Given the description of an element on the screen output the (x, y) to click on. 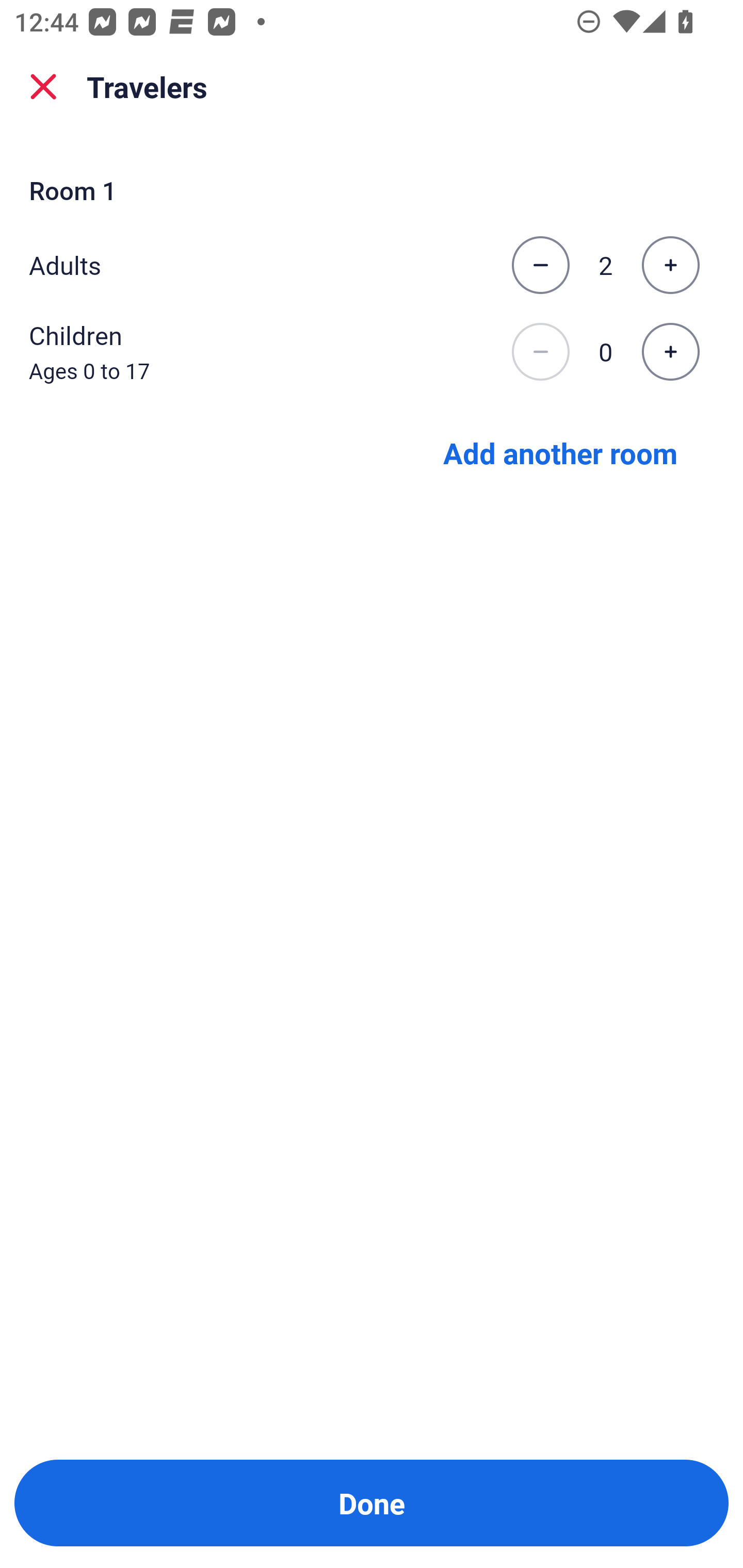
close (43, 86)
Decrease the number of adults (540, 264)
Increase the number of adults (670, 264)
Decrease the number of children (540, 351)
Increase the number of children (670, 351)
Add another room (560, 452)
Done (371, 1502)
